Given the description of an element on the screen output the (x, y) to click on. 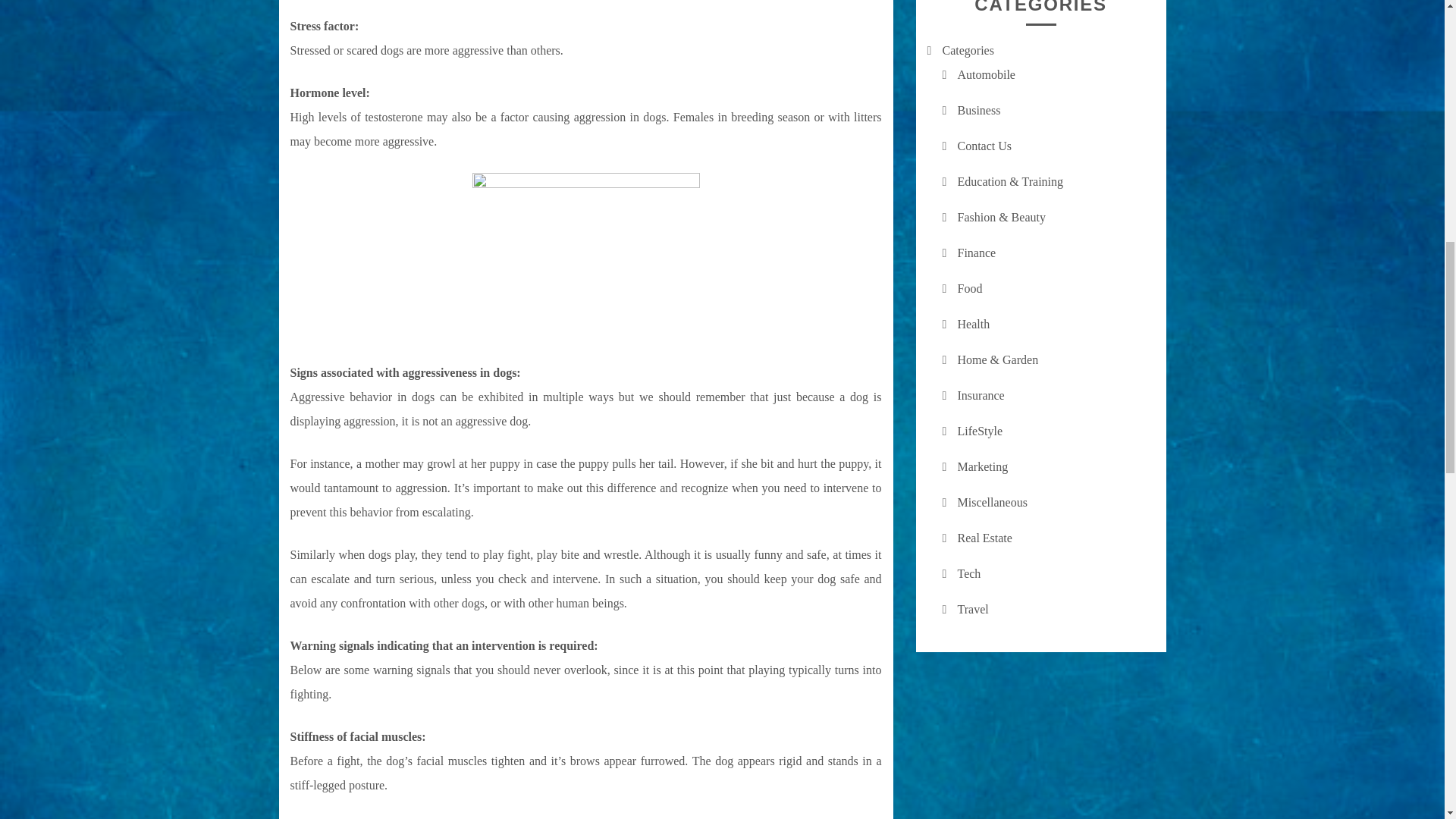
Contact Us (983, 145)
Automobile (985, 74)
Business (978, 110)
